Given the description of an element on the screen output the (x, y) to click on. 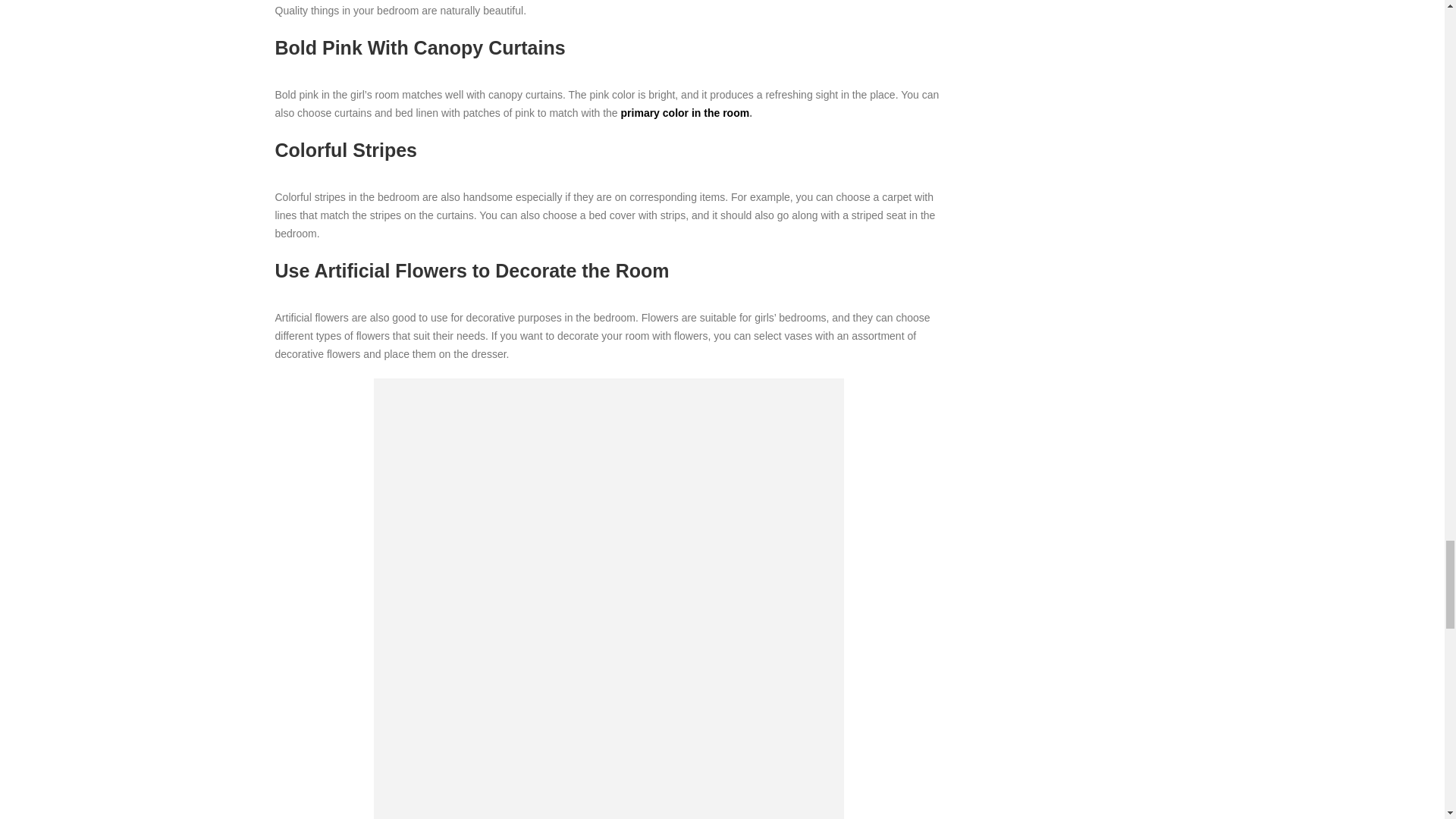
primary color in the room (685, 112)
